Given the description of an element on the screen output the (x, y) to click on. 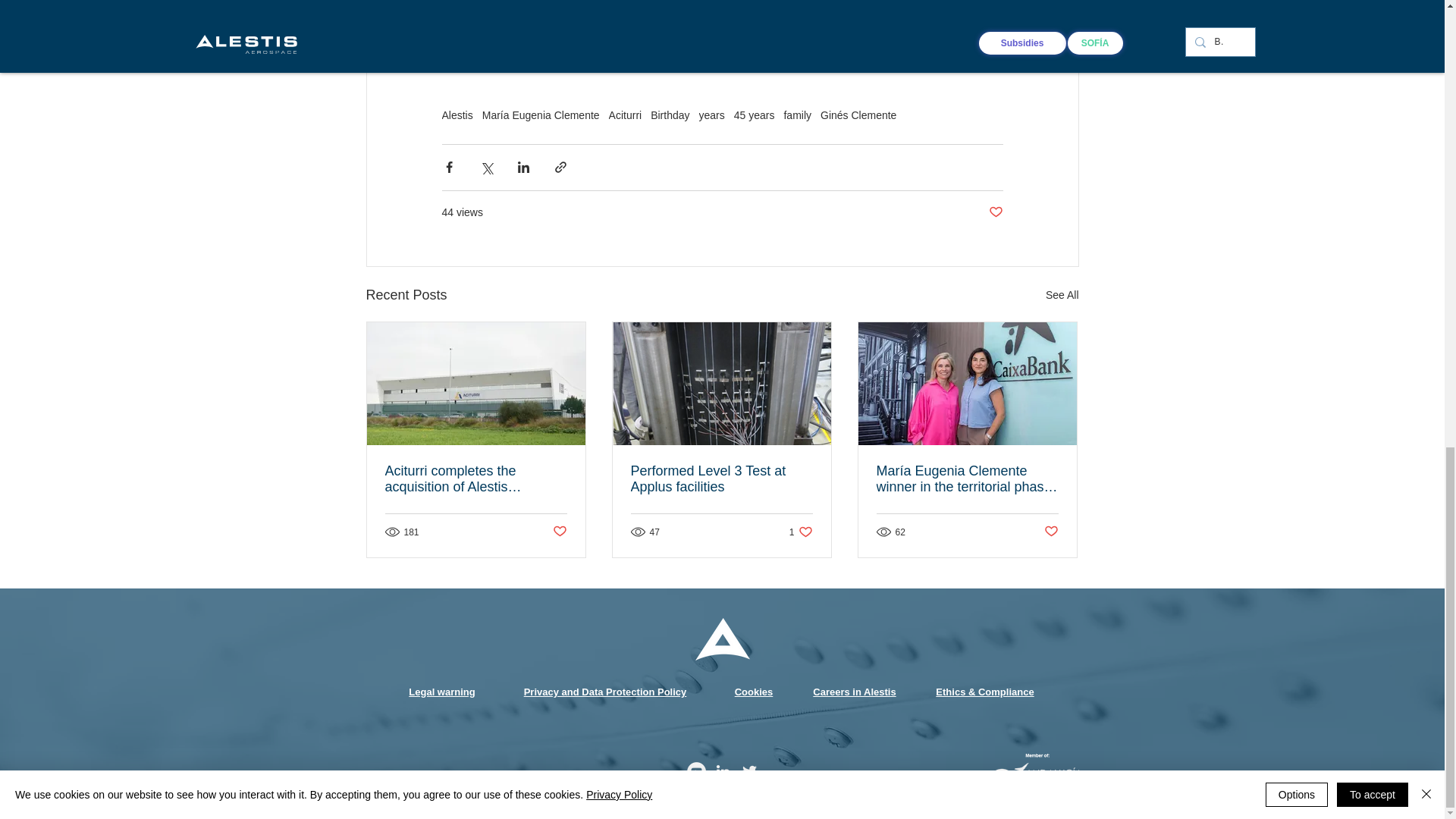
Post not marked as liked (995, 212)
years (711, 114)
45 years (753, 114)
A ALESTIS blanca sin fondo.png (721, 639)
Aciturri (625, 114)
Alestis (456, 114)
Birthday (669, 114)
See All (1061, 295)
family (796, 114)
